Given the description of an element on the screen output the (x, y) to click on. 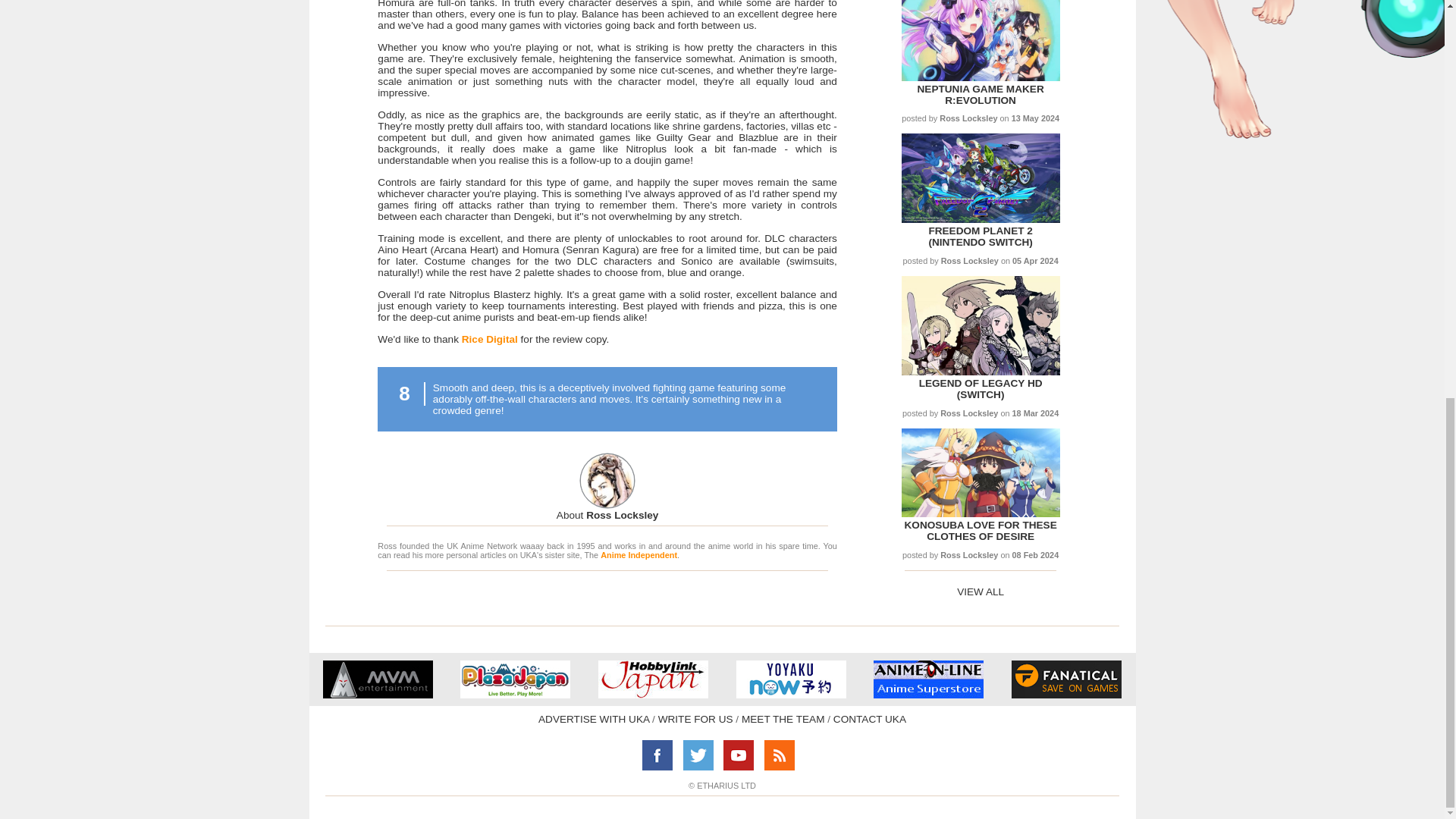
Anime Independent (638, 554)
About Ross Locksley (607, 514)
Ross Locksley (607, 514)
Neptunia Game Maker R:Evolution (980, 77)
NEPTUNIA GAME MAKER R:EVOLUTION (980, 94)
Rice Digital (489, 338)
Neptunia Game Maker R:Evolution (980, 94)
KONOSUBA LOVE FOR THESE CLOTHES OF DESIRE (980, 530)
The Anime Independent (638, 554)
Nitroplus Blasterz at Rice Digital (489, 338)
VIEW ALL (980, 591)
